Given the description of an element on the screen output the (x, y) to click on. 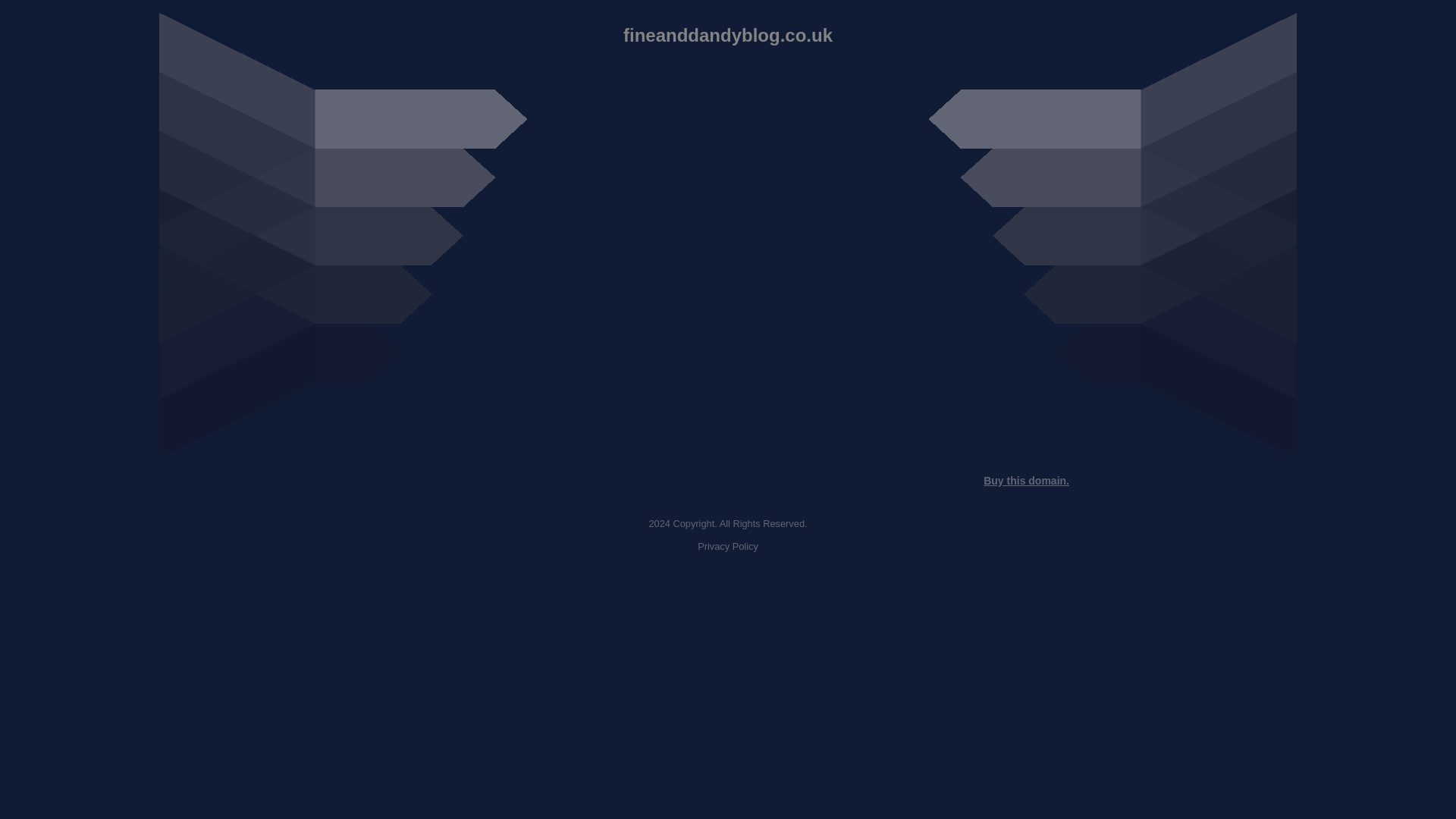
Buy this domain. (1026, 480)
Privacy Policy (727, 546)
